Given the description of an element on the screen output the (x, y) to click on. 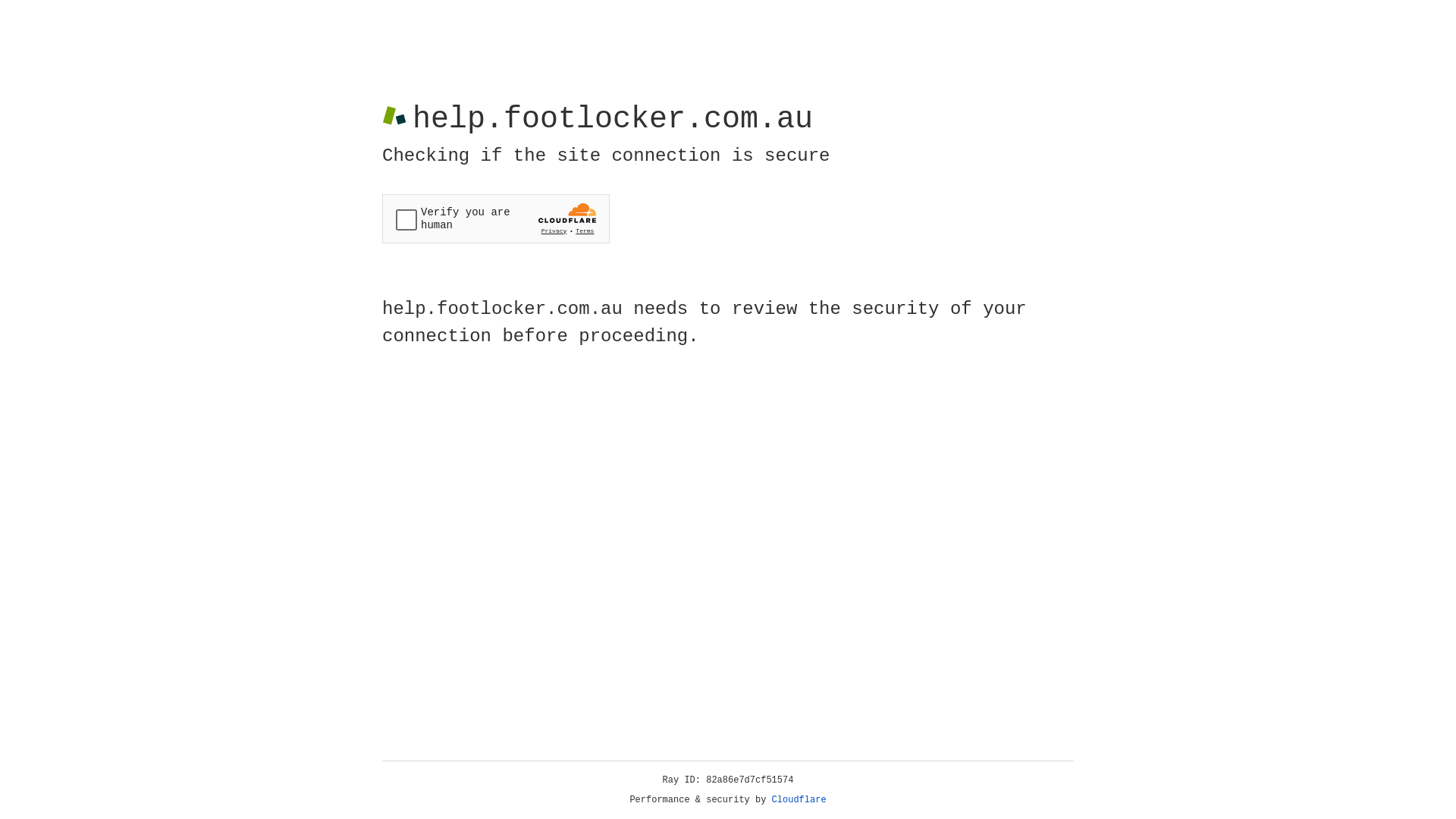
Cloudflare Element type: text (798, 799)
Widget containing a Cloudflare security challenge Element type: hover (495, 218)
